Given the description of an element on the screen output the (x, y) to click on. 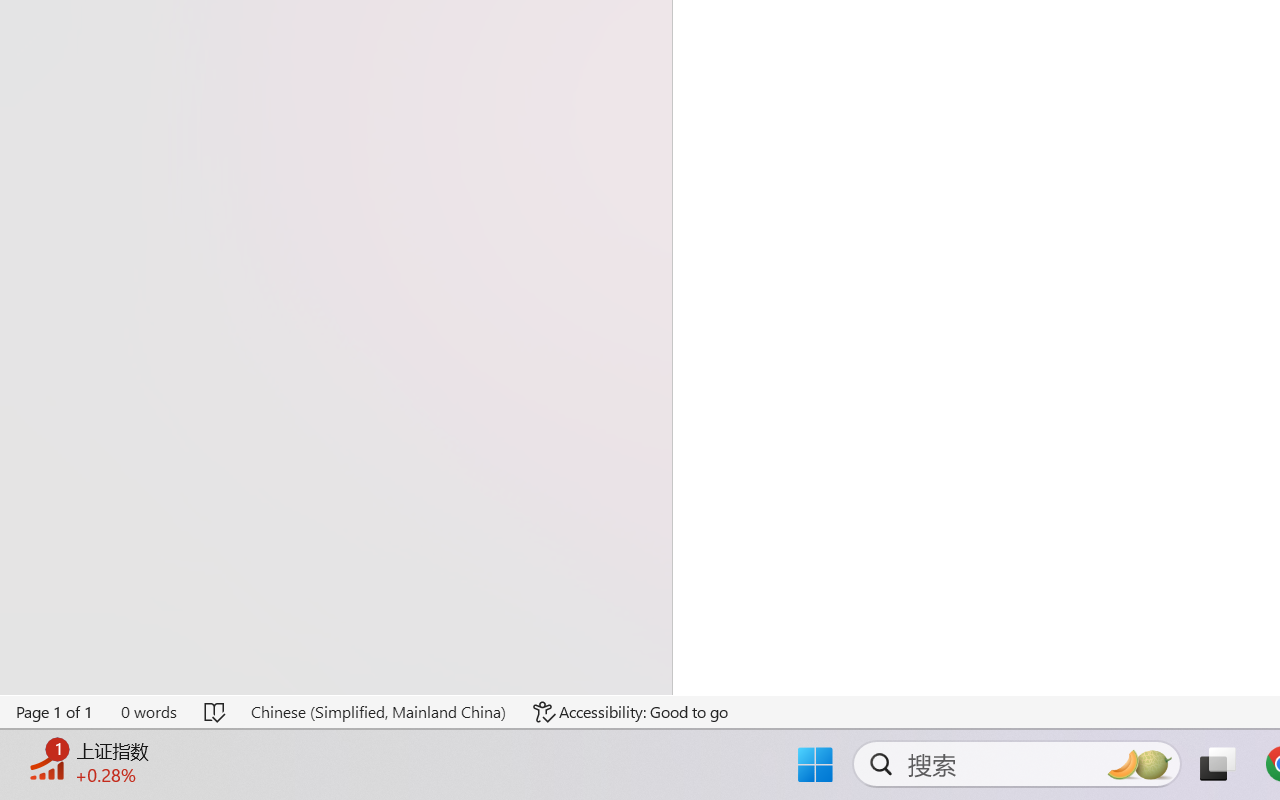
Language Chinese (Simplified, Mainland China) (378, 712)
